Given the description of an element on the screen output the (x, y) to click on. 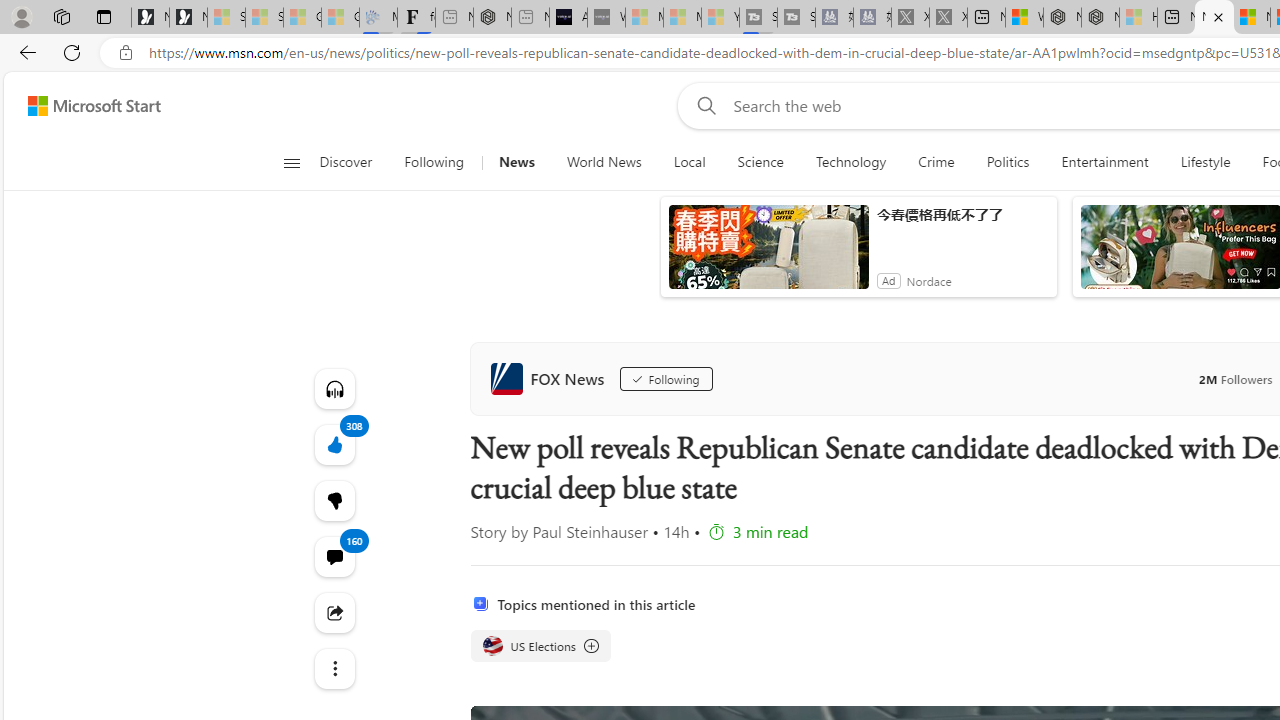
Share this story (333, 612)
Class: button-glyph (290, 162)
World News (603, 162)
Skip to content (86, 105)
Entertainment (1104, 162)
Technology (850, 162)
Crime (936, 162)
More like this308Fewer like thisView comments (333, 500)
US Elections US Elections US Elections (539, 645)
AI Voice Changer for PC and Mac - Voice.ai (568, 17)
